Given the description of an element on the screen output the (x, y) to click on. 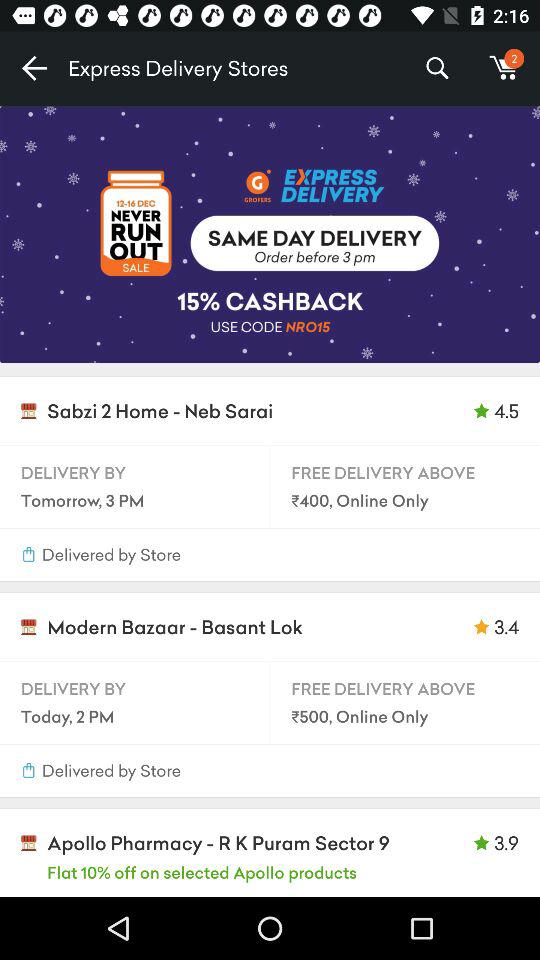
select the % (436, 67)
